Given the description of an element on the screen output the (x, y) to click on. 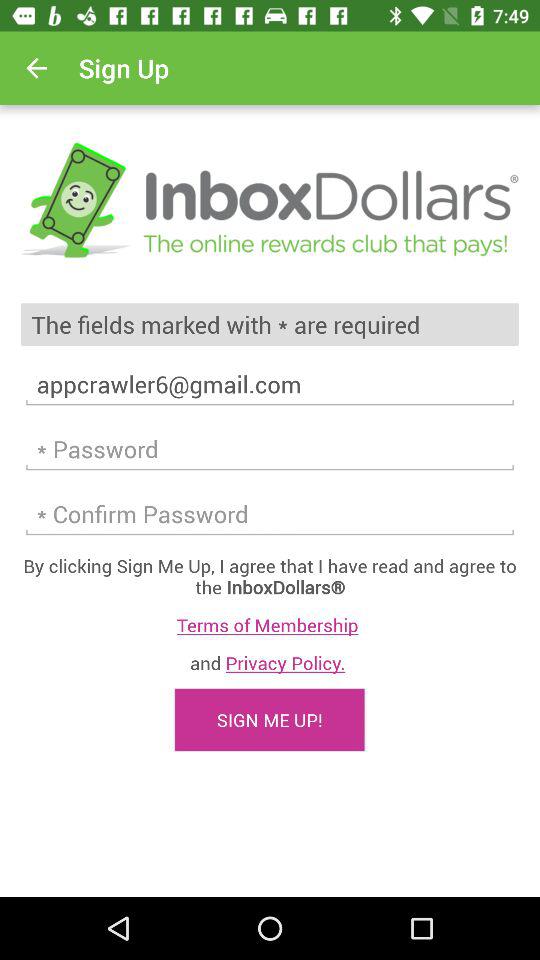
swipe until the the fields marked item (270, 324)
